Given the description of an element on the screen output the (x, y) to click on. 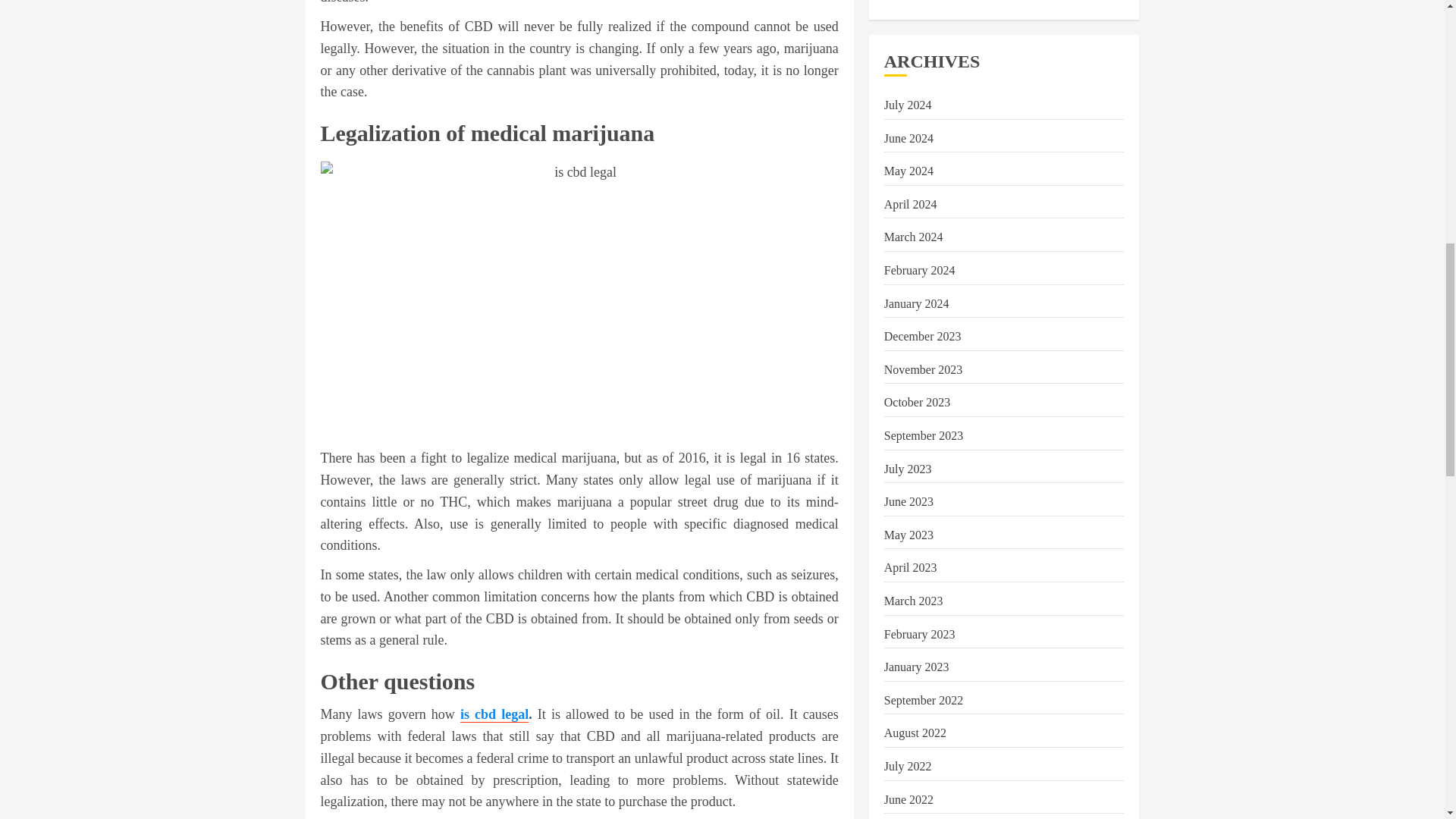
is cbd legal (494, 714)
March 2024 (913, 237)
May 2024 (908, 171)
February 2024 (919, 270)
June 2024 (908, 138)
July 2024 (907, 105)
April 2024 (910, 204)
January 2024 (916, 304)
